Given the description of an element on the screen output the (x, y) to click on. 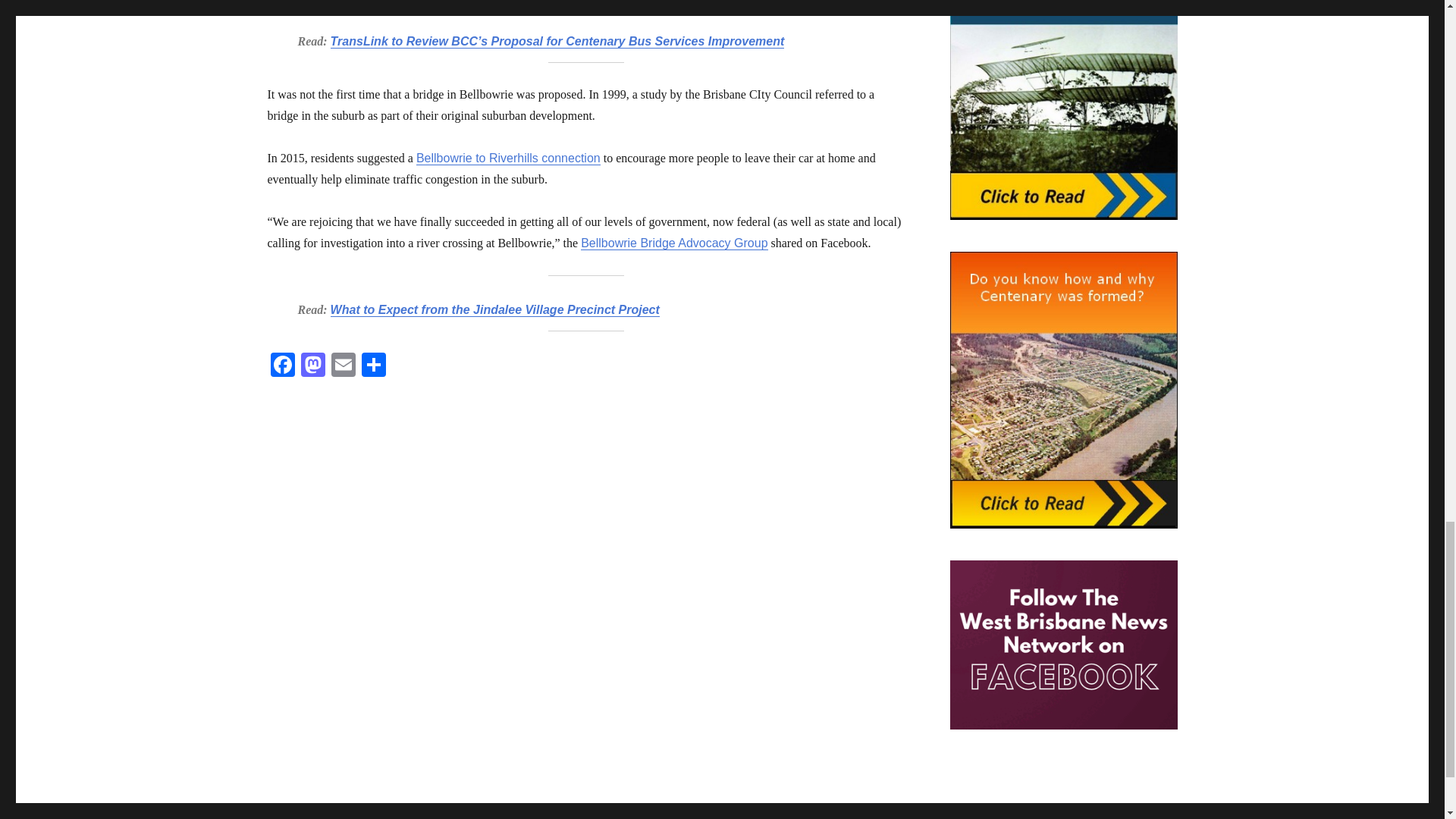
Facebook (281, 366)
Email (342, 366)
Mastodon (312, 366)
Bellbowrie to Riverhills connection (507, 157)
Email (342, 366)
Mastodon (312, 366)
Facebook (281, 366)
What to Expect from the Jindalee Village Precinct Project (494, 309)
Share (373, 366)
Bellbowrie Bridge Advocacy Group (673, 242)
